Given the description of an element on the screen output the (x, y) to click on. 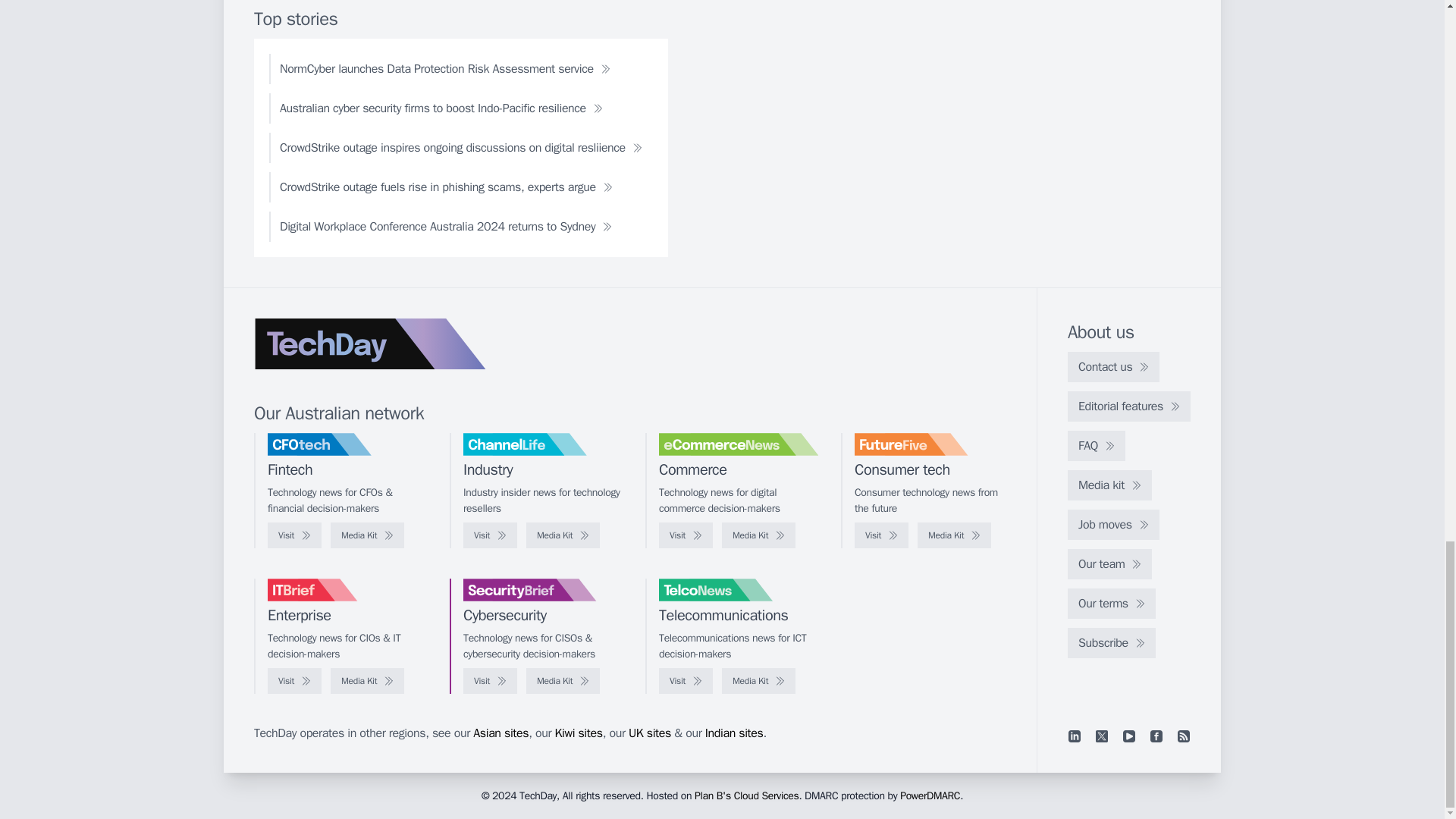
Media Kit (367, 534)
Visit (686, 534)
Media Kit (562, 534)
Visit (881, 534)
NormCyber launches Data Protection Risk Assessment service (445, 69)
Visit (489, 534)
Visit (294, 534)
Media Kit (758, 534)
Media Kit (954, 534)
